Given the description of an element on the screen output the (x, y) to click on. 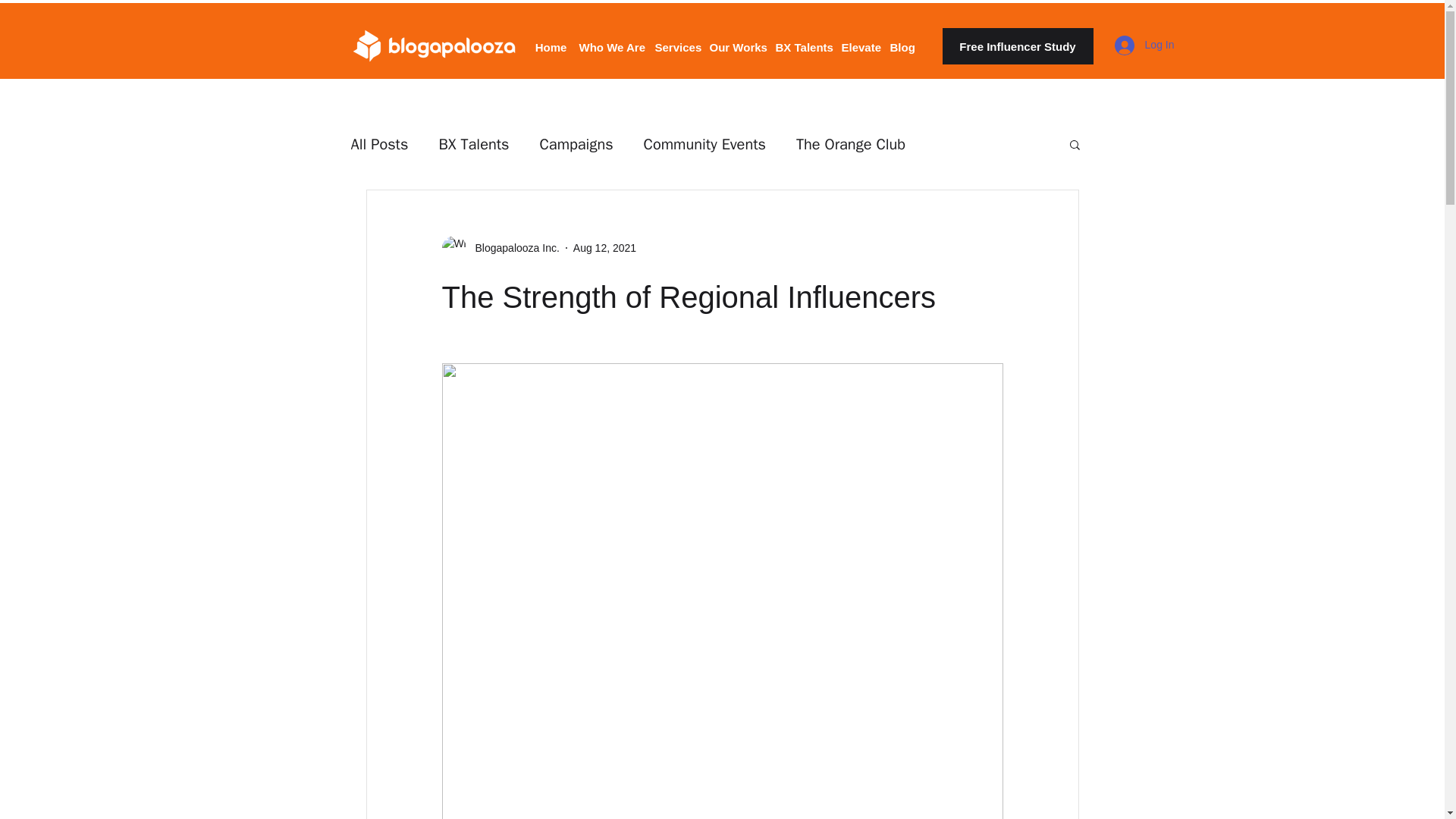
BX Talents (801, 40)
Aug 12, 2021 (604, 246)
Community Events (704, 143)
Campaigns (575, 143)
All Posts (378, 143)
Free Influencer Study (1017, 45)
Who We Are (611, 40)
Services (676, 40)
Blog (901, 40)
Home (551, 40)
Elevate (859, 40)
Log In (1144, 45)
Blogapalooza Inc. (500, 247)
BX Talents (473, 143)
Our Works (736, 40)
